Given the description of an element on the screen output the (x, y) to click on. 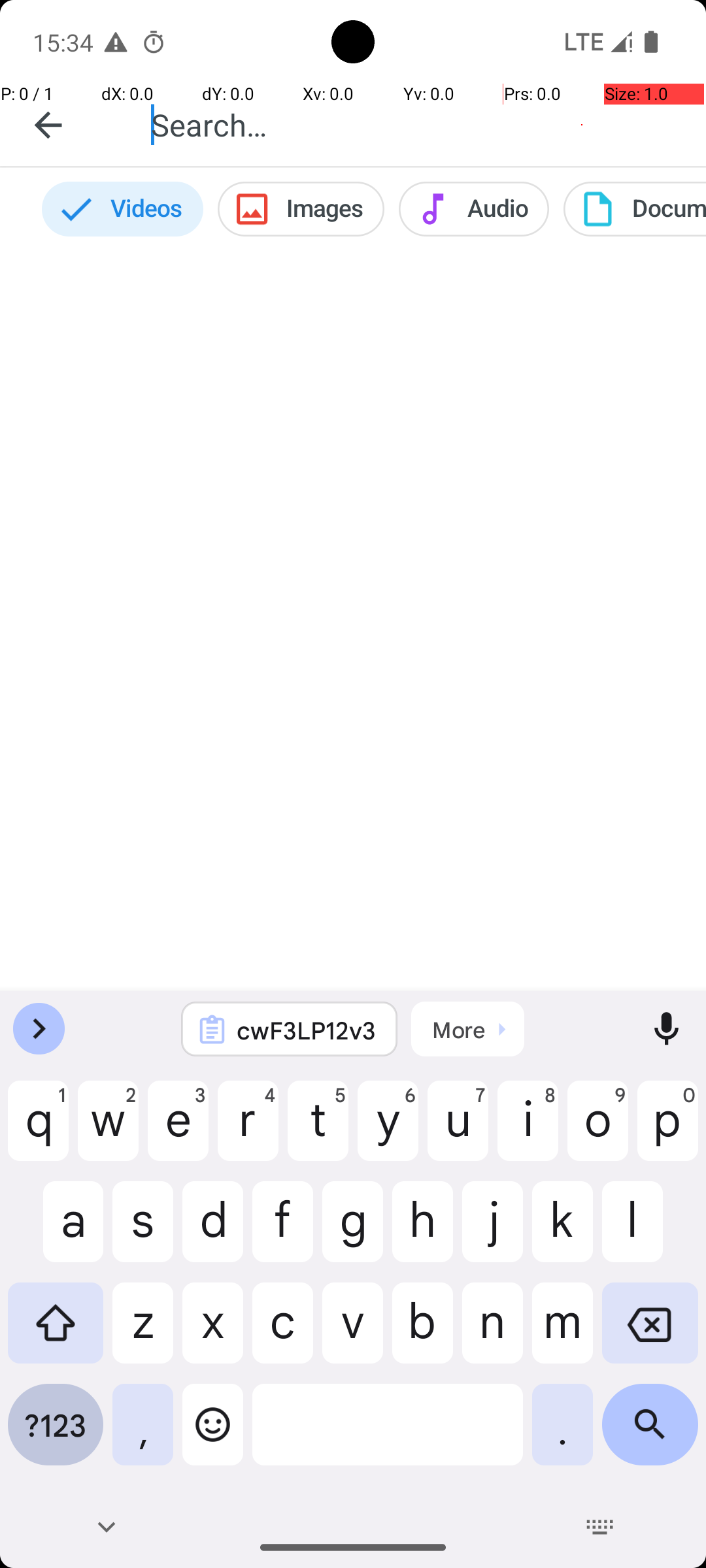
Click to open Clipboard Element type: android.view.ViewGroup (467, 1028)
cwF3LP12v3 Element type: android.widget.TextView (306, 1029)
